Given the description of an element on the screen output the (x, y) to click on. 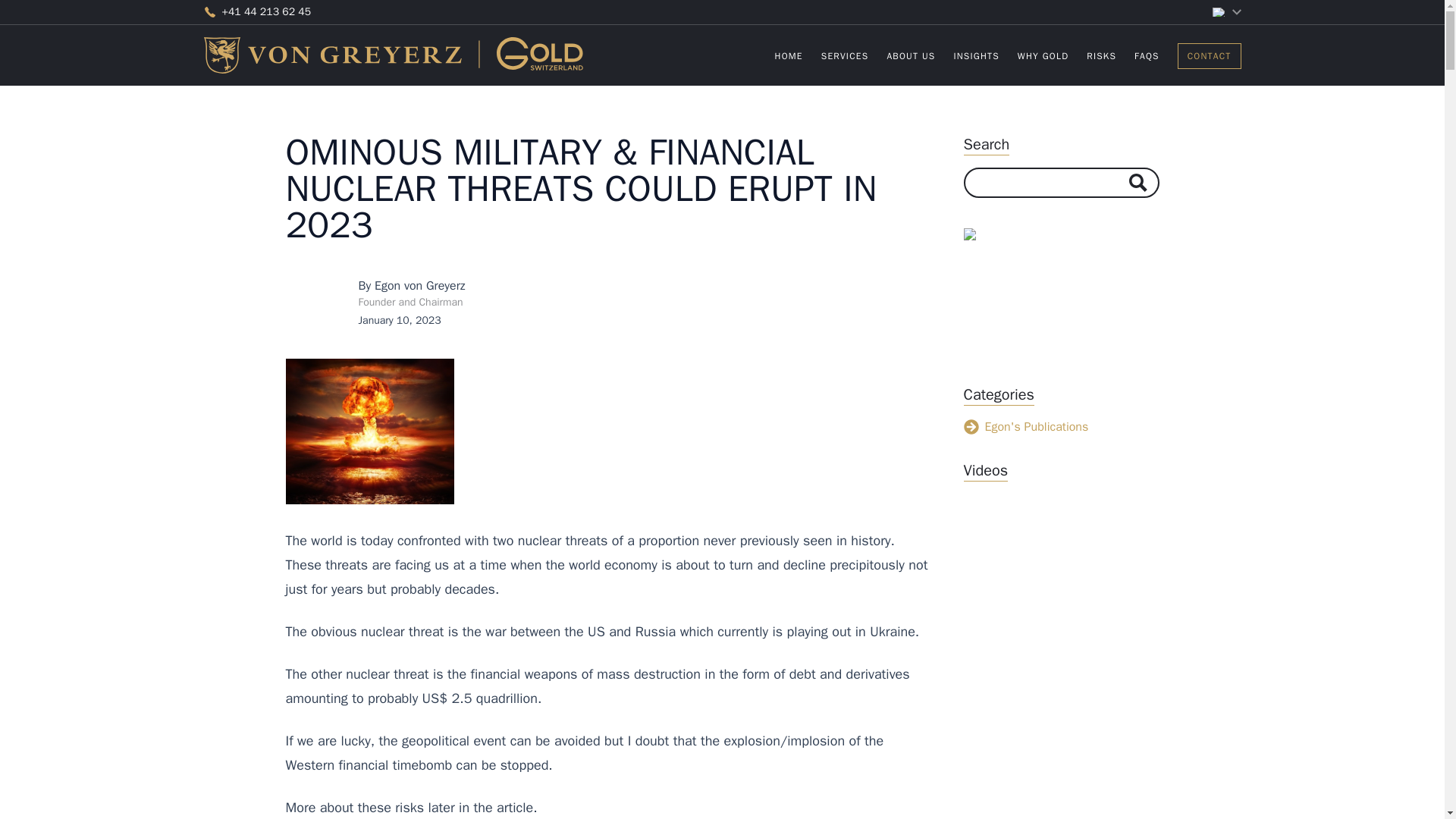
ABOUT US (910, 55)
CONTACT (1209, 54)
MIS-REPORTED INFLATION IS JUST MIS-REPORTED THEFT (1060, 759)
INSIGHTS (975, 55)
Why Gold Is Intentionally Misunderstood (1060, 590)
HOME (788, 55)
WHY GOLD (1042, 55)
FAQS (1146, 55)
SERVICES (1007, 54)
